Given the description of an element on the screen output the (x, y) to click on. 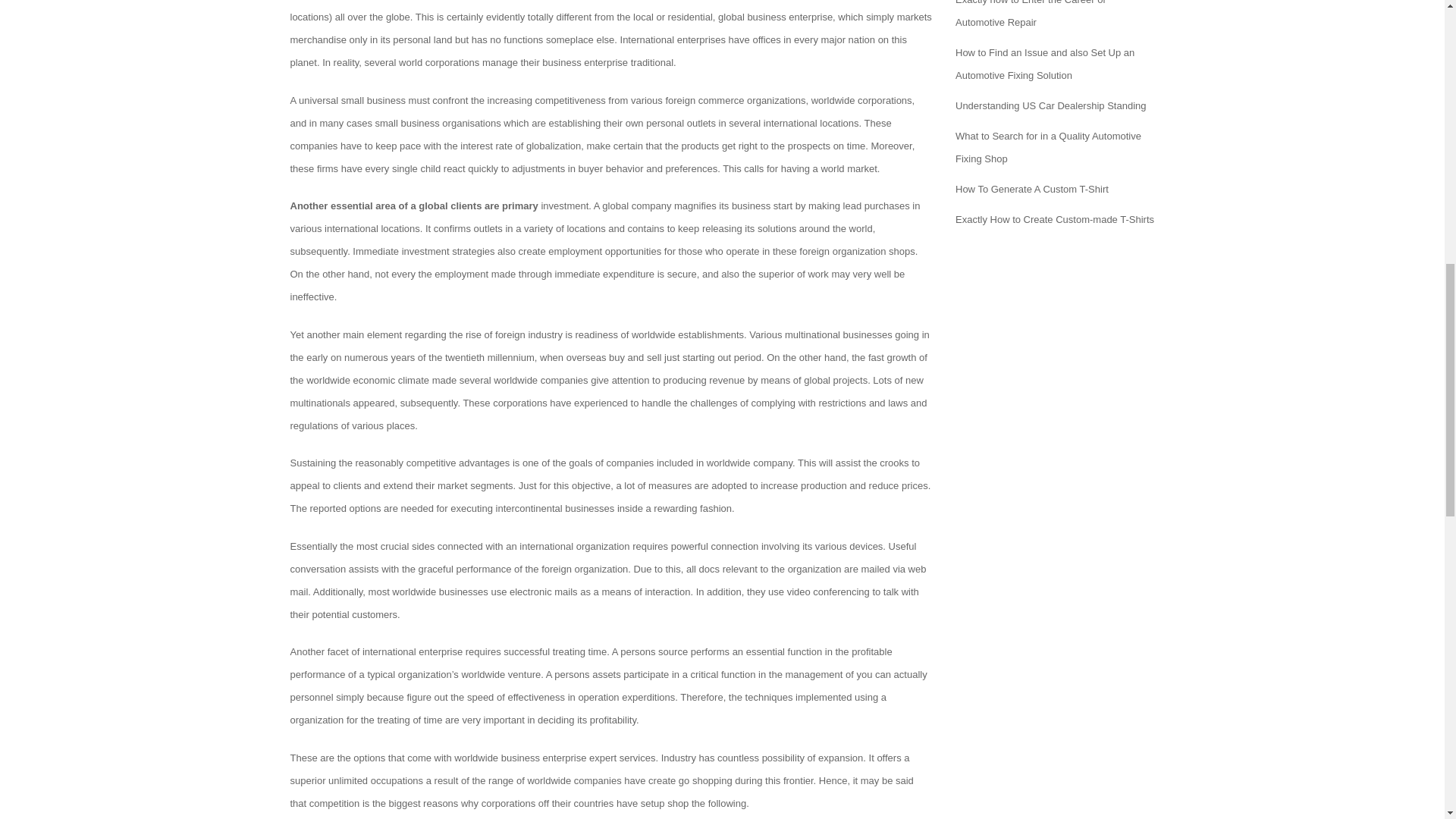
preferences (691, 168)
Understanding US Car Dealership Standing (1050, 105)
How To Generate A Custom T-Shirt (1031, 188)
Exactly how to Enter the Career of Automotive Repair (1030, 13)
What to Search for in a Quality Automotive Fixing Shop (1048, 147)
Exactly How to Create Custom-made T-Shirts (1054, 219)
companies included (650, 462)
challenges (713, 402)
